Given the description of an element on the screen output the (x, y) to click on. 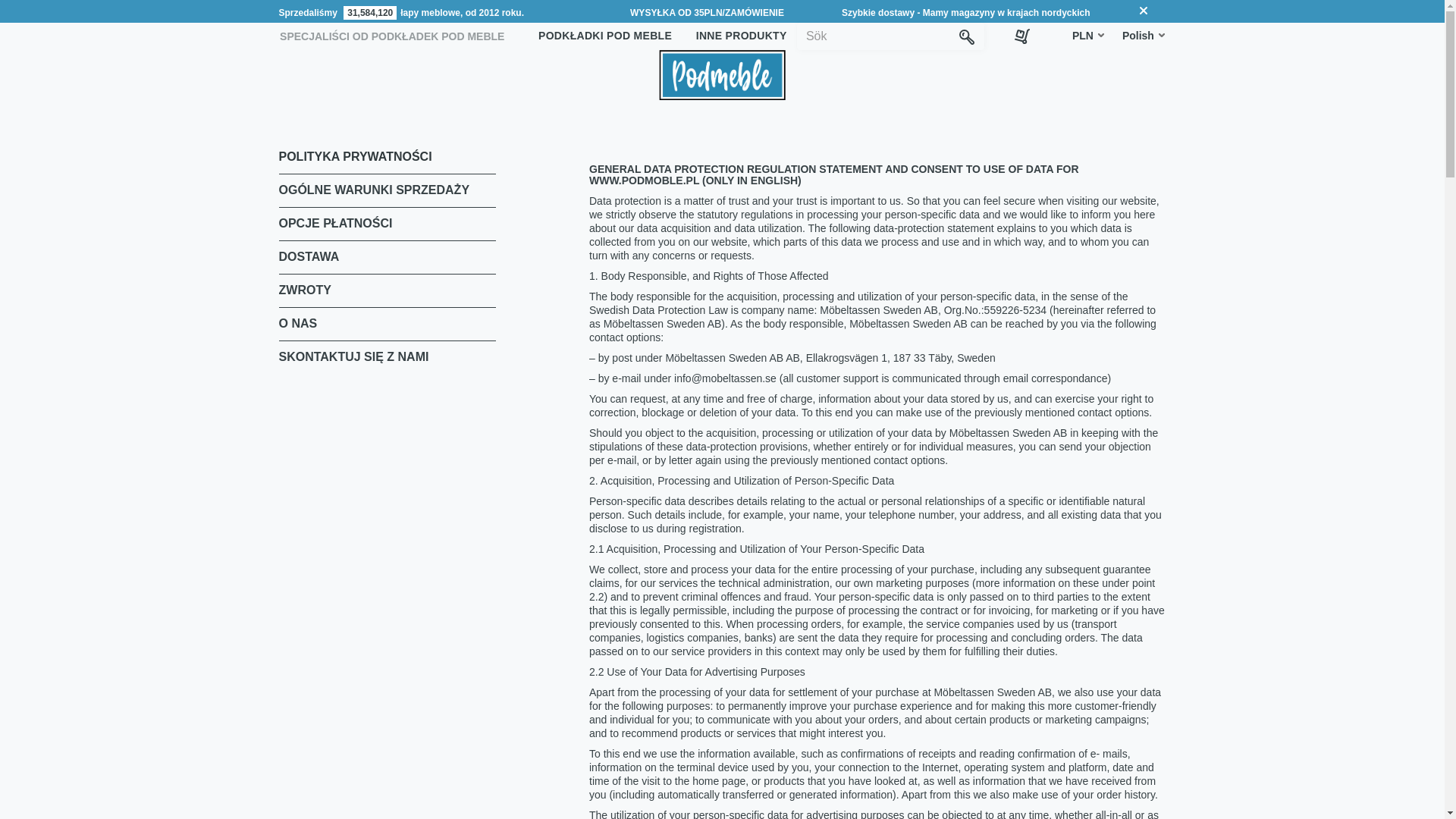
Dostawa (309, 256)
podmeble.pl (722, 74)
